Given the description of an element on the screen output the (x, y) to click on. 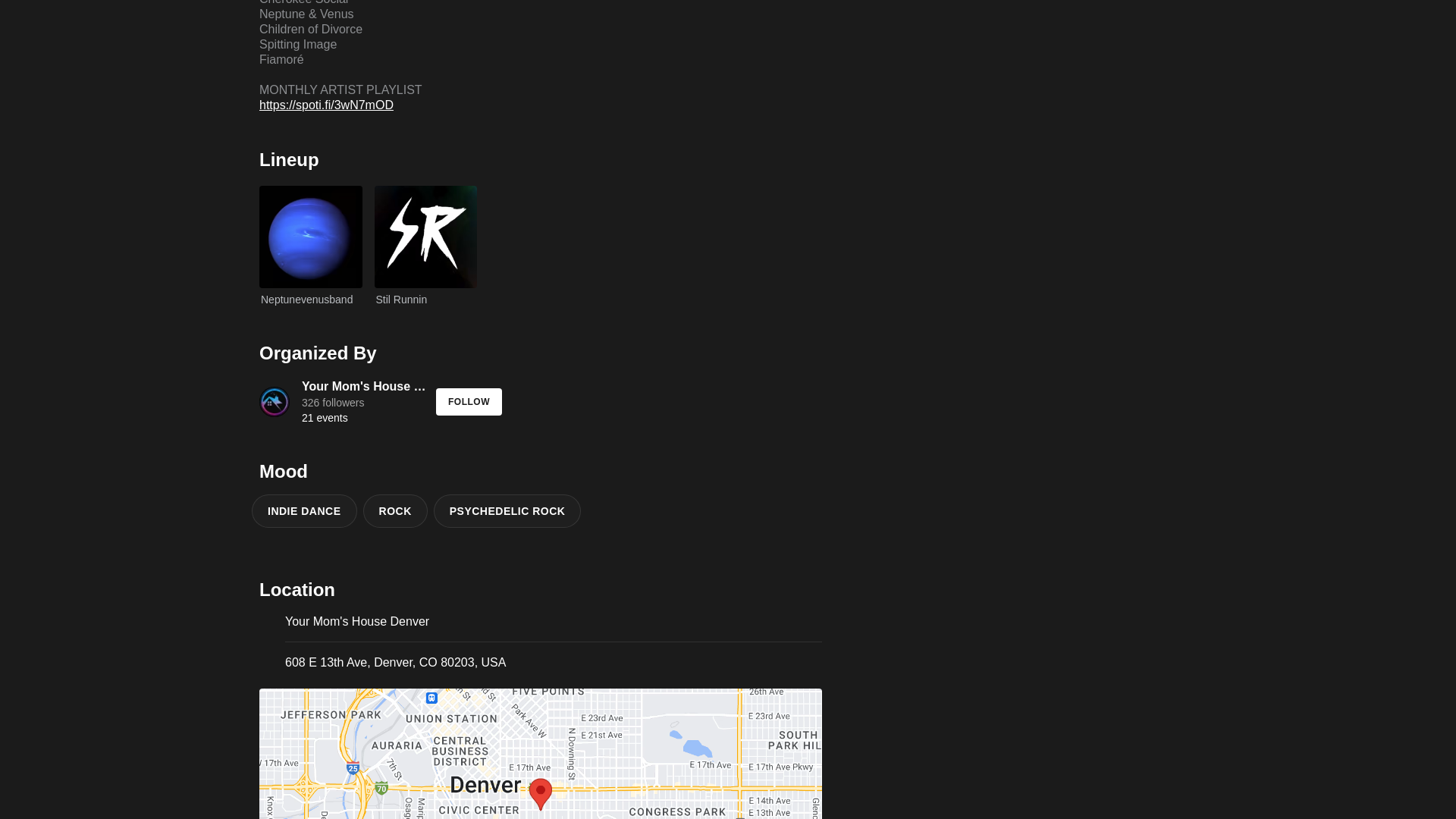
Your Mom's House Denver (553, 621)
PSYCHEDELIC ROCK (510, 510)
ROCK (397, 510)
608 E 13th Ave, Denver, CO 80203, USA (347, 402)
INDIE DANCE (395, 662)
